Given the description of an element on the screen output the (x, y) to click on. 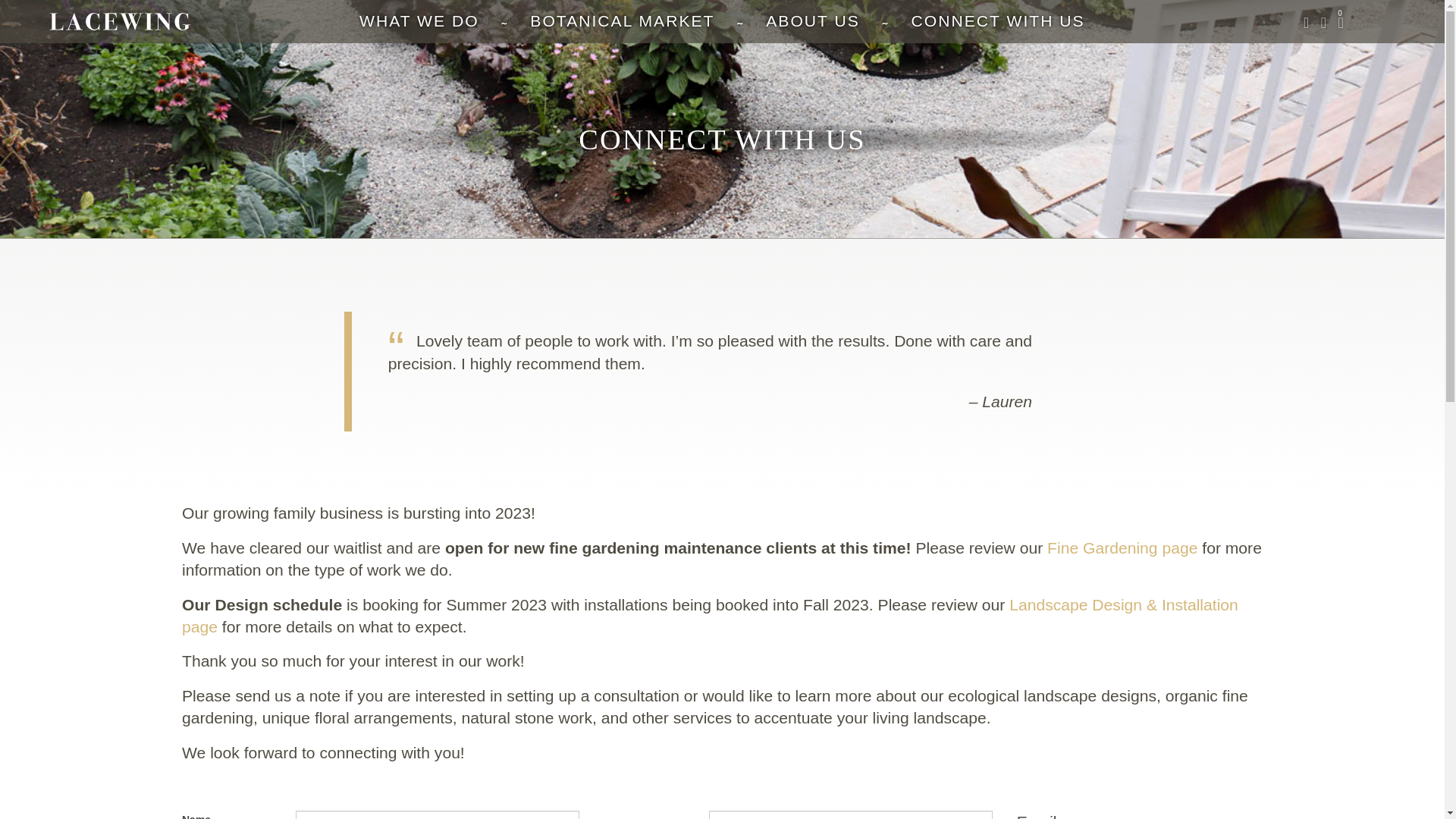
WHAT WE DO (419, 20)
BOTANICAL MARKET (621, 20)
Fine Gardening page (1121, 547)
CONNECT WITH US (997, 20)
ABOUT US (812, 20)
Lacewing Seattle (120, 21)
